Given the description of an element on the screen output the (x, y) to click on. 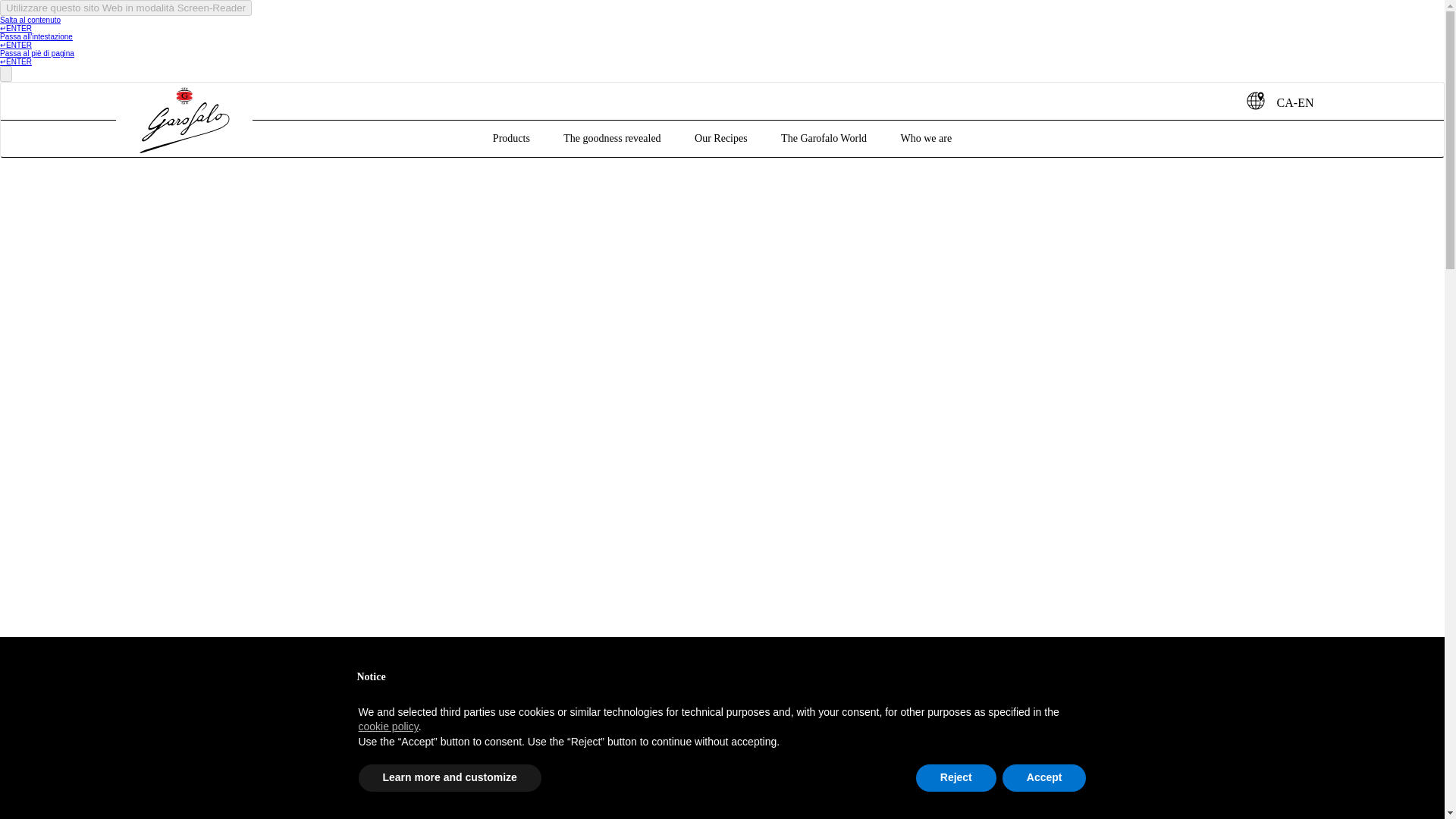
Our Recipes (721, 121)
Our Recipes (721, 121)
The goodness revealed (612, 121)
The goodness revealed (612, 121)
CA-EN (1278, 100)
The Garofalo World (823, 121)
Who we are (925, 121)
The Garofalo World (823, 121)
Who we are (925, 121)
